Given the description of an element on the screen output the (x, y) to click on. 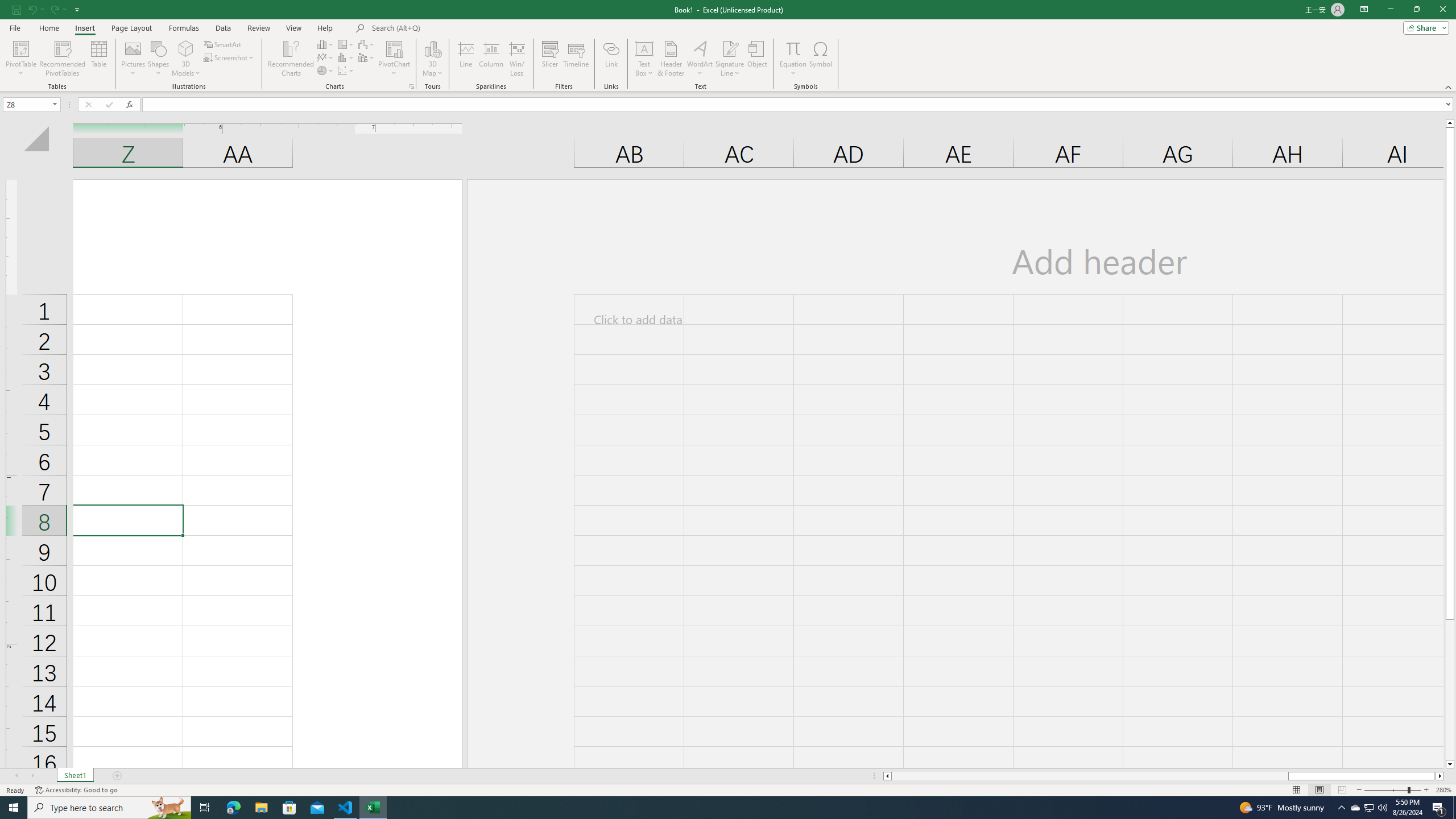
Object... (757, 58)
Symbol... (821, 58)
Timeline (575, 58)
Insert Waterfall, Funnel, Stock, Surface, or Radar Chart (366, 44)
Shapes (158, 58)
Insert Combo Chart (366, 56)
SmartArt... (223, 44)
